Given the description of an element on the screen output the (x, y) to click on. 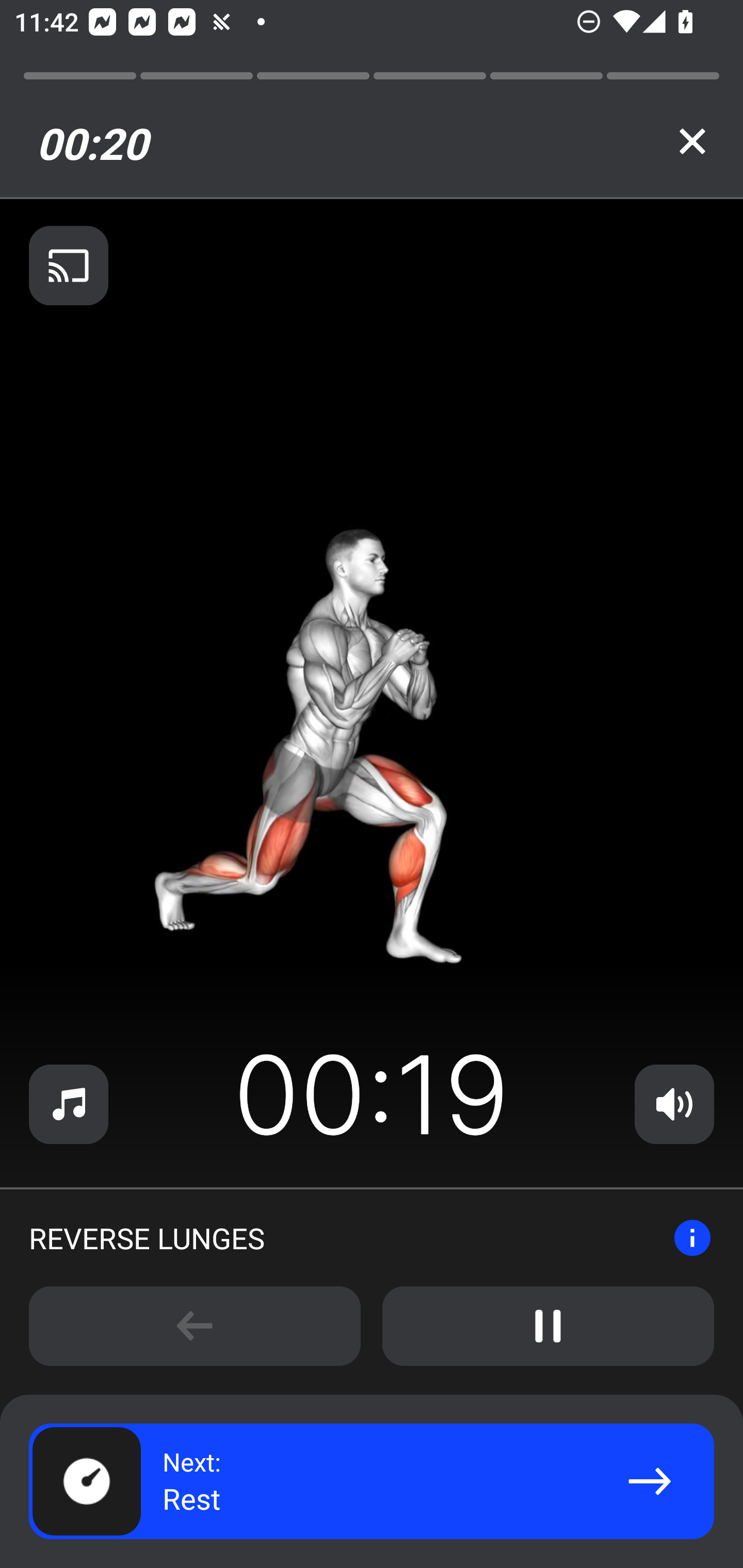
Next: Rest (371, 1481)
